Given the description of an element on the screen output the (x, y) to click on. 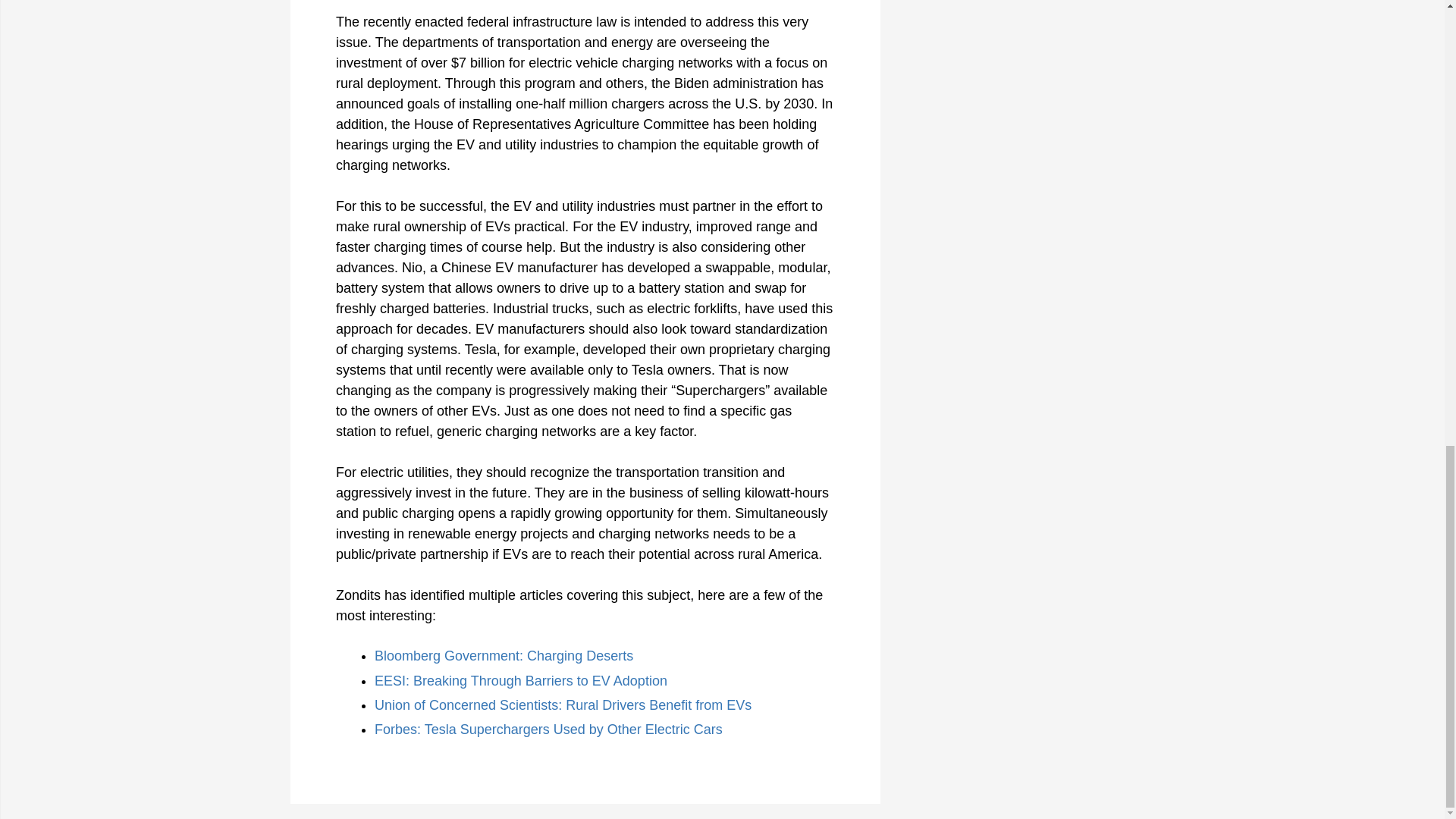
Other Electric Cars (664, 729)
to EV Adoption (621, 680)
Forbes: Tesla Superchargers Used (481, 729)
Barriers (550, 680)
by (598, 729)
Bloomberg Government: Charging Deserts (503, 655)
EESI: Breaking Through (449, 680)
